Given the description of an element on the screen output the (x, y) to click on. 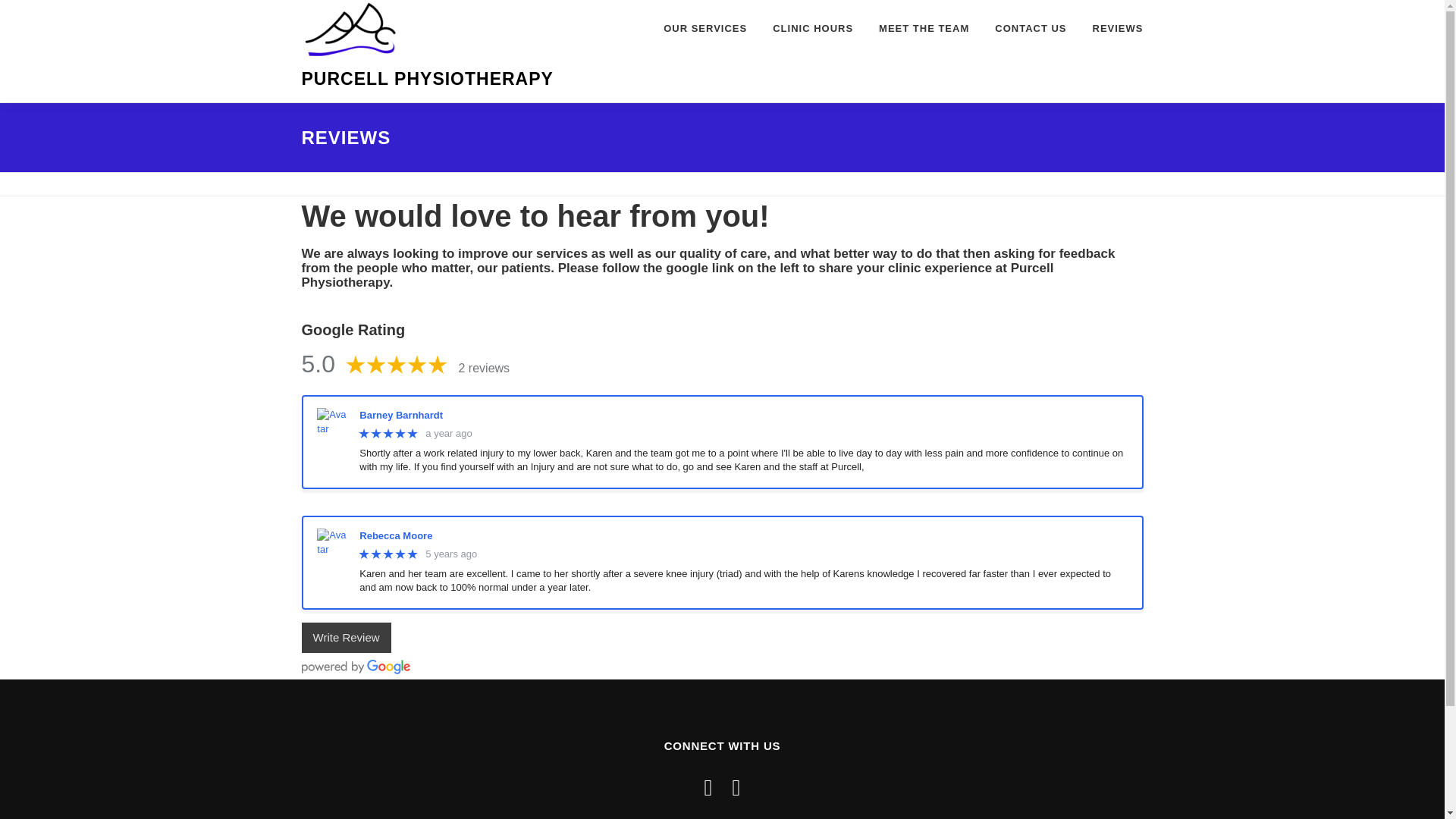
PURCELL PHYSIOTHERAPY (427, 78)
Rebecca Moore (742, 535)
CONTACT US (1029, 28)
Write Review (346, 637)
Barney Barnhardt (742, 415)
OUR SERVICES (705, 28)
Powered by Google (355, 667)
REVIEWS (1111, 28)
MEET THE TEAM (923, 28)
2 reviews (483, 367)
